Given the description of an element on the screen output the (x, y) to click on. 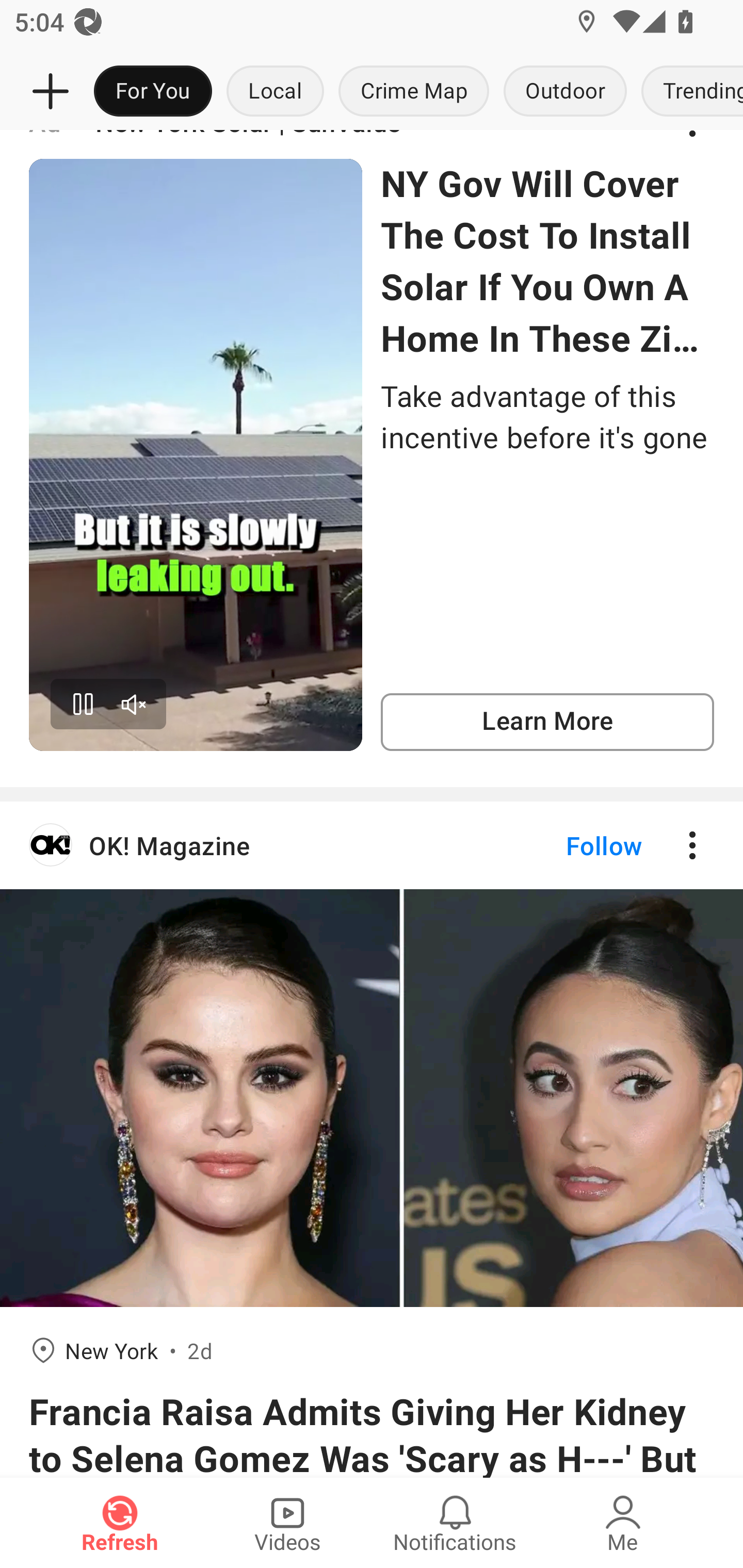
For You (152, 91)
Local (275, 91)
Crime Map (413, 91)
Outdoor (564, 91)
Trending (688, 91)
Take advantage of this incentive before it's gone (547, 416)
Learn More (547, 722)
OK! Magazine Follow (371, 845)
Follow (569, 845)
Videos (287, 1522)
Notifications (455, 1522)
Me (622, 1522)
